Given the description of an element on the screen output the (x, y) to click on. 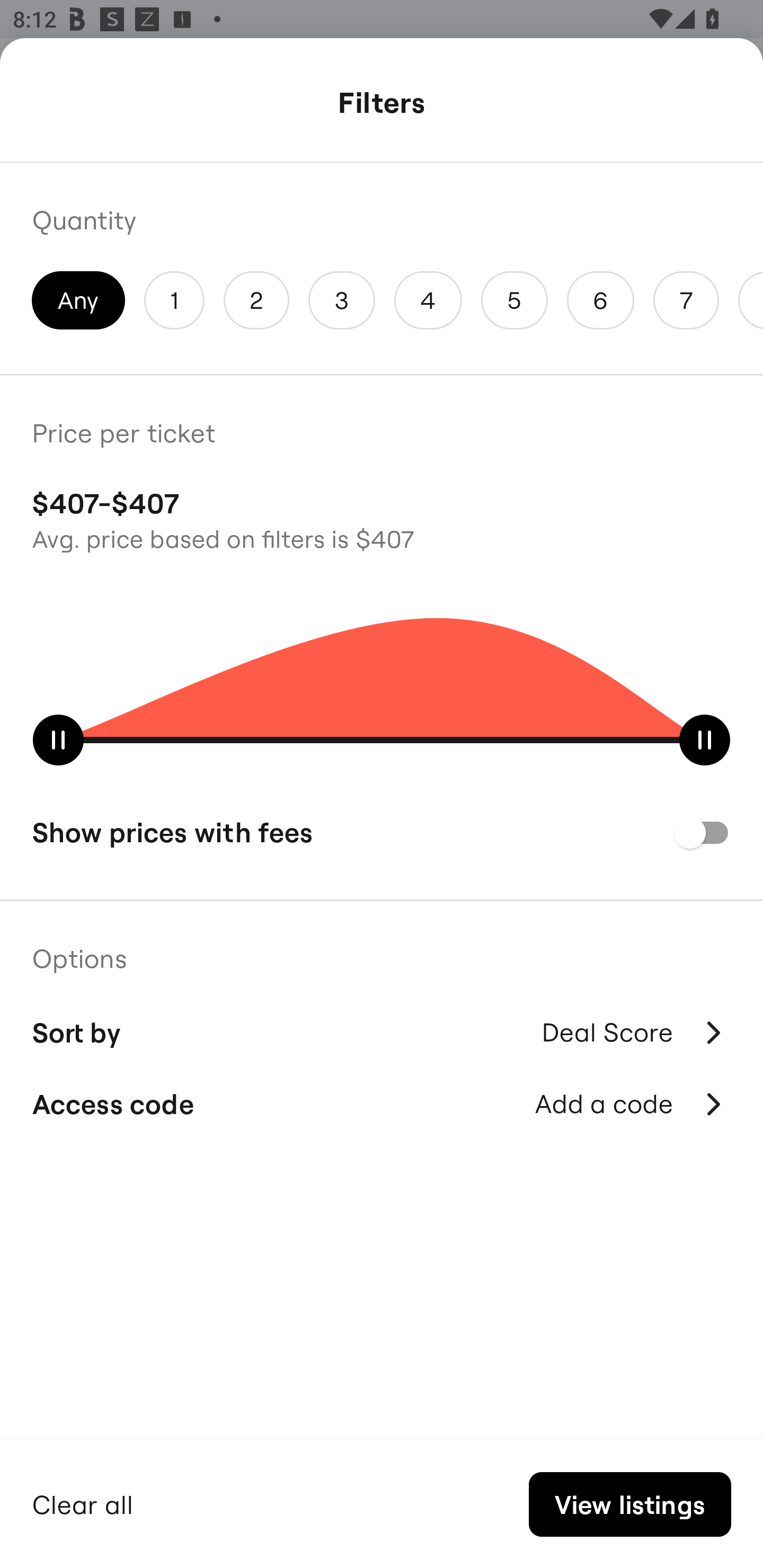
Back Hadestown Thu, Mar 7, 7 PM Info (381, 104)
Any (78, 300)
1 (173, 300)
2 (256, 300)
3 (341, 300)
4 (427, 300)
5 (514, 300)
6 (601, 300)
7 (685, 300)
$407-$407 Avg. price based on filters is $407 (381, 518)
Show prices with fees (381, 832)
Sort by Deal Score (381, 1030)
Sort by deal (633, 1091)
Access code Add a code (381, 1104)
Clear all (83, 1502)
View listings (629, 1504)
